Given the description of an element on the screen output the (x, y) to click on. 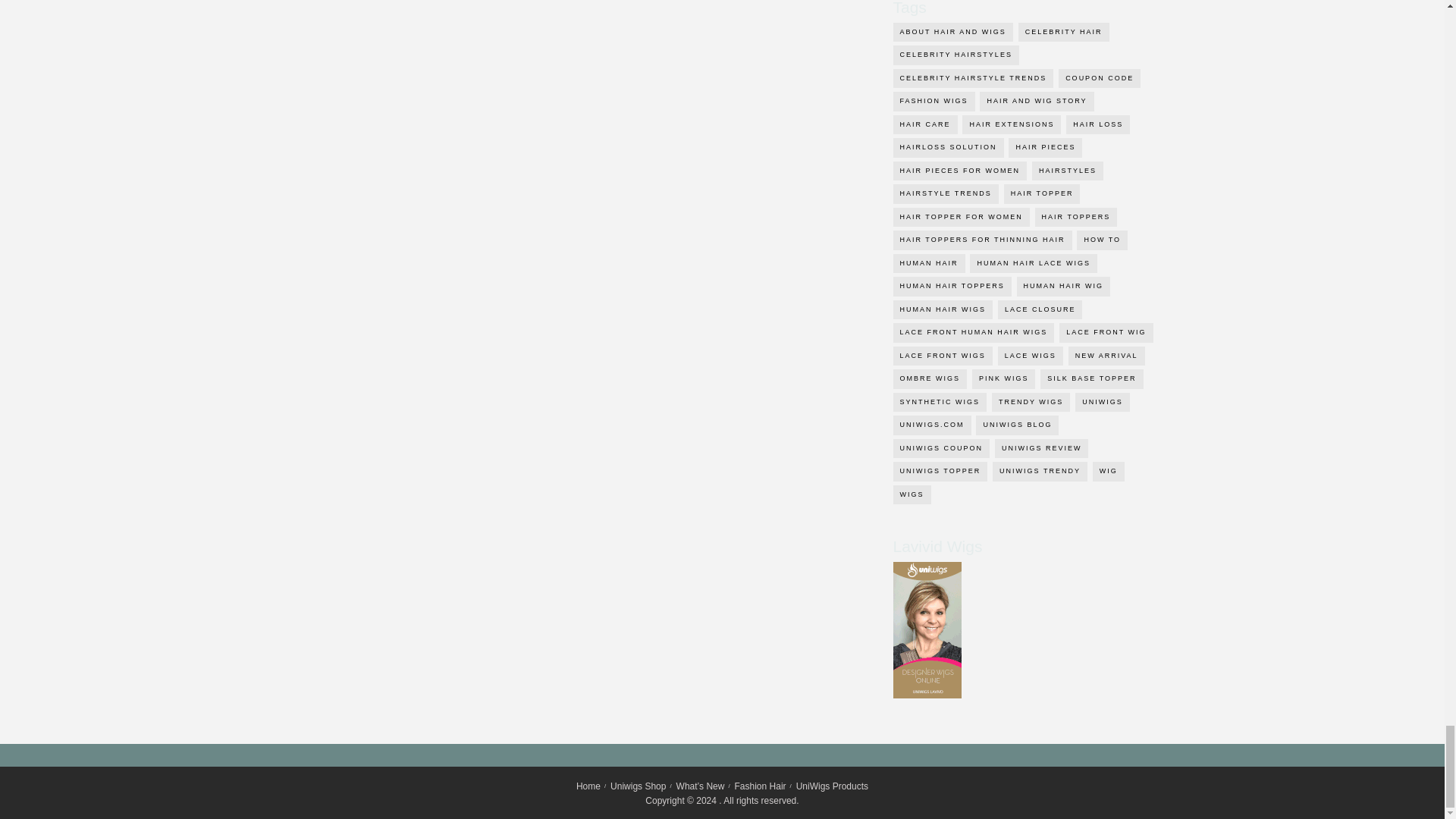
Lavivid Wigs (926, 629)
